Given the description of an element on the screen output the (x, y) to click on. 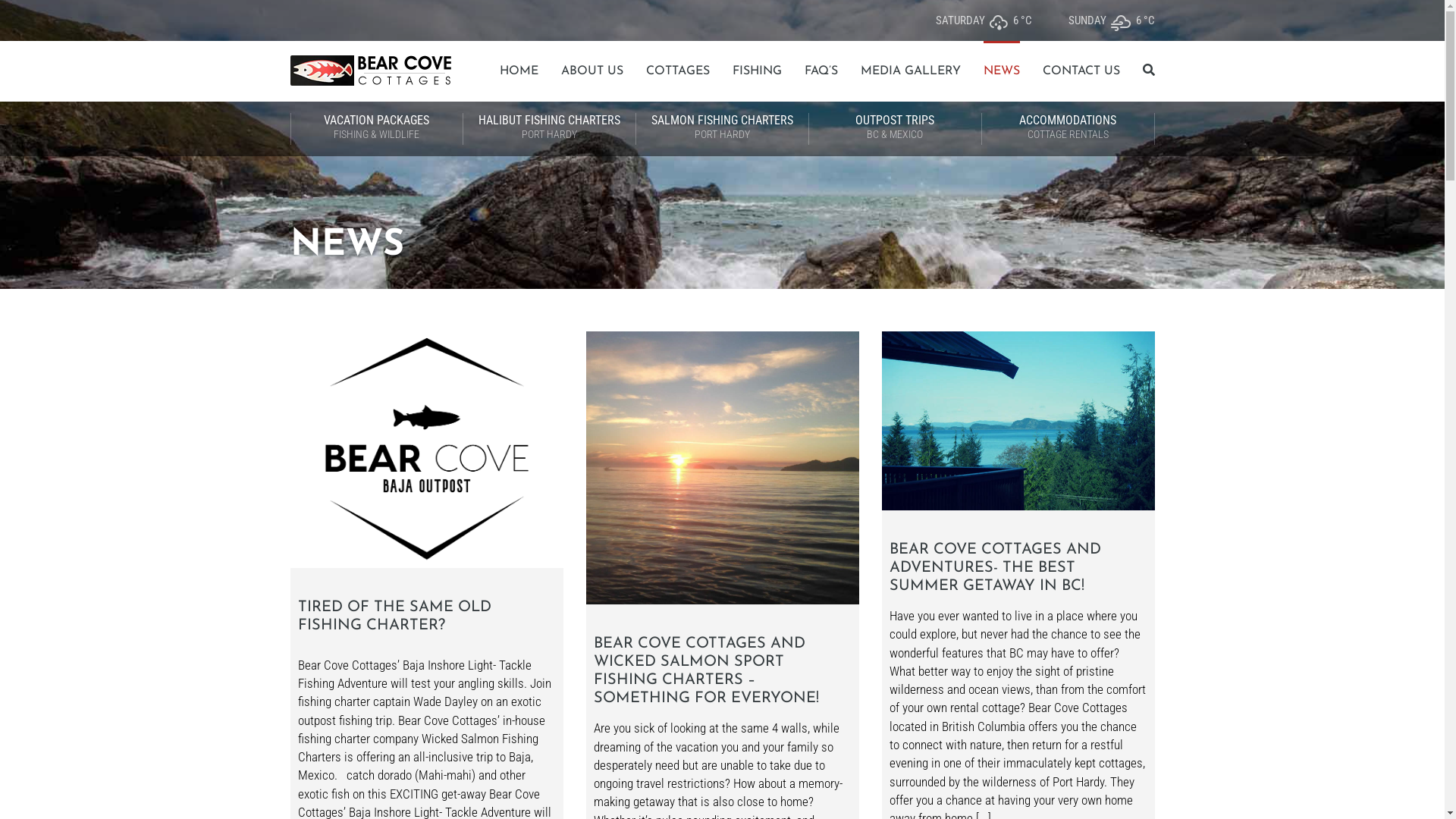
OUTPOST TRIPS
BC & MEXICO Element type: text (894, 128)
MEDIA GALLERY Element type: text (909, 70)
FISHING Element type: text (756, 70)
Submit Element type: text (39, 17)
CONTACT US Element type: text (1080, 70)
ACCOMMODATIONS
COTTAGE RENTALS Element type: text (1067, 128)
SALMON FISHING CHARTERS
PORT HARDY Element type: text (721, 128)
NEWS Element type: text (1000, 70)
HOME Element type: text (517, 70)
COTTAGES Element type: text (677, 70)
ABOUT US Element type: text (592, 70)
Tired of the same old fishing charter? Element type: hover (425, 449)
VACATION PACKAGES
FISHING & WILDLIFE Element type: text (375, 128)
HALIBUT FISHING CHARTERS
PORT HARDY Element type: text (548, 128)
